Given the description of an element on the screen output the (x, y) to click on. 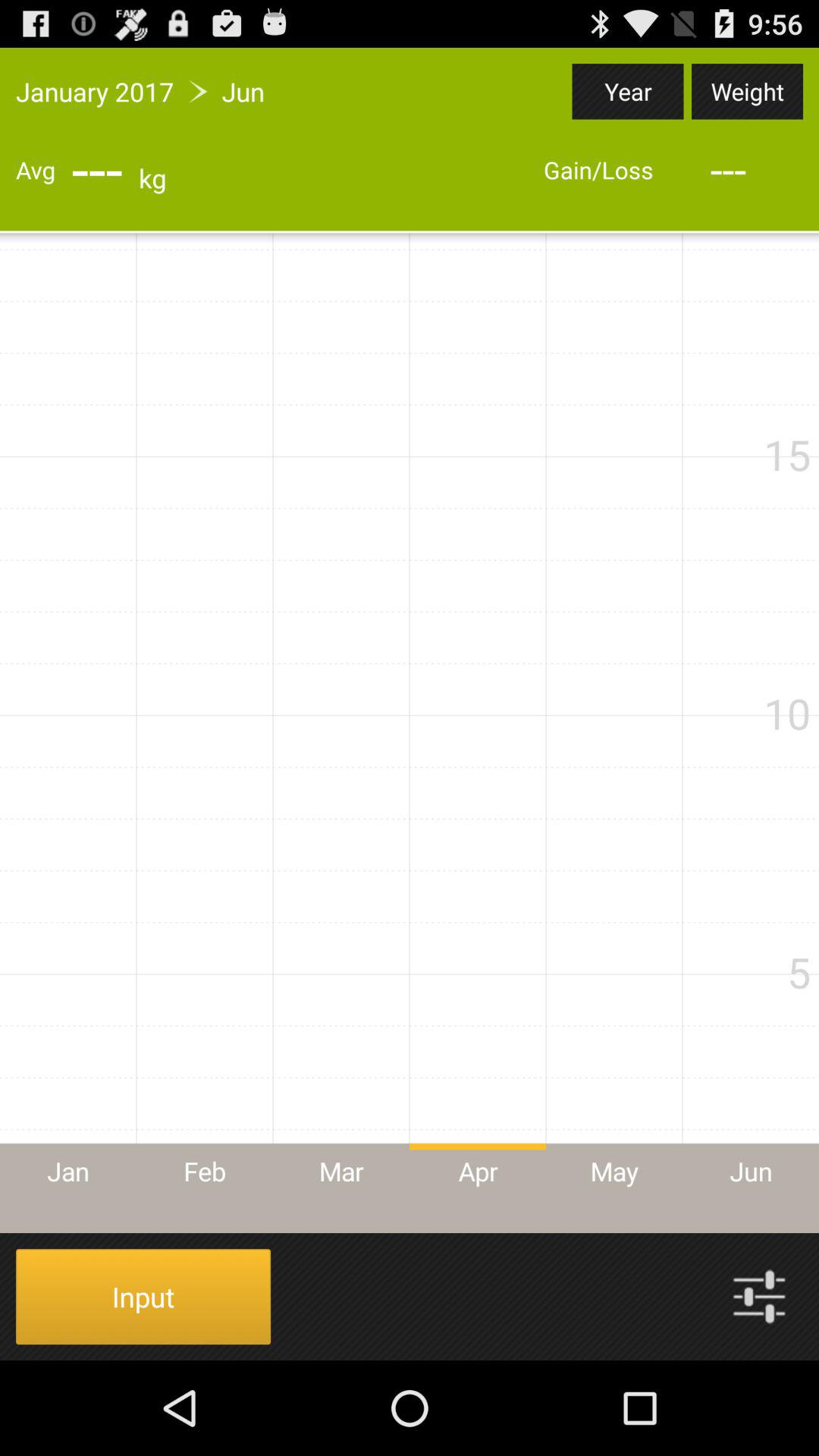
turn off the input icon (142, 1296)
